Given the description of an element on the screen output the (x, y) to click on. 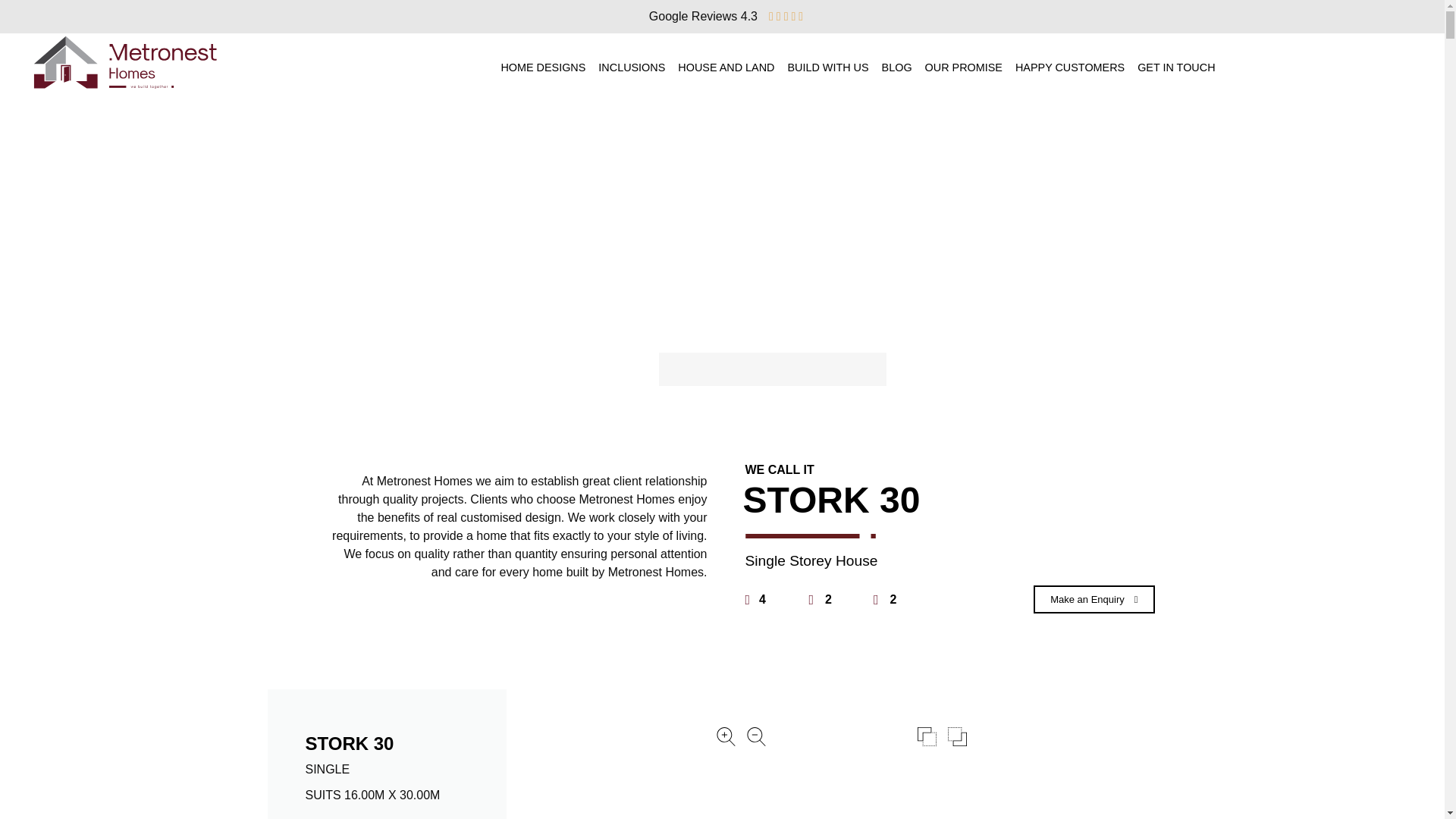
GET IN TOUCH Element type: text (1175, 68)
HOUSE AND LAND Element type: text (726, 68)
HOME DESIGNS Element type: text (542, 68)
OUR PROMISE Element type: text (963, 68)
BLOG Element type: text (897, 68)
INCLUSIONS Element type: text (631, 68)
HAPPY CUSTOMERS Element type: text (1069, 68)
Make an Enquiry Element type: text (1093, 599)
BUILD WITH US Element type: text (827, 68)
